Given the description of an element on the screen output the (x, y) to click on. 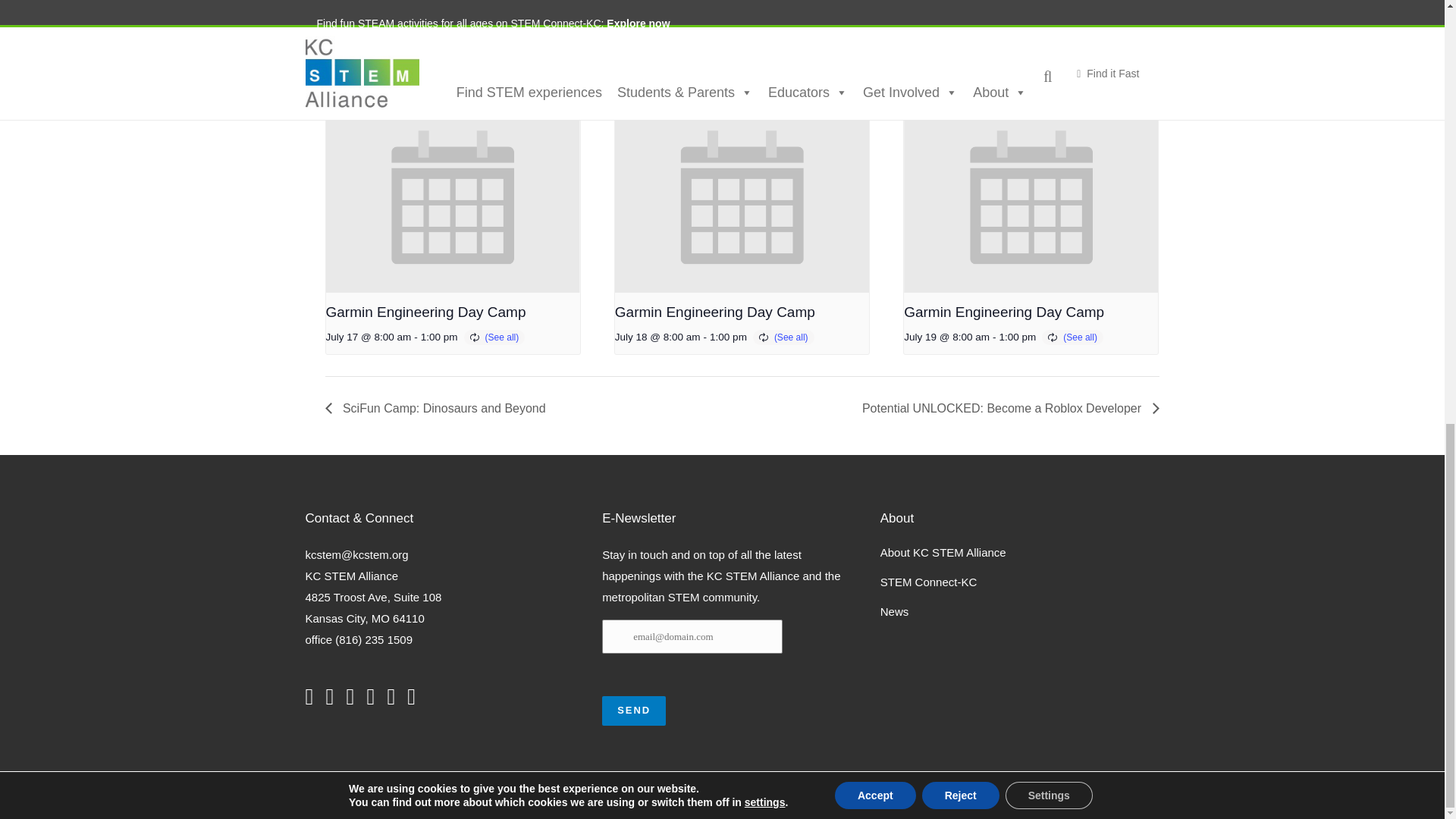
SEND (633, 710)
